Given the description of an element on the screen output the (x, y) to click on. 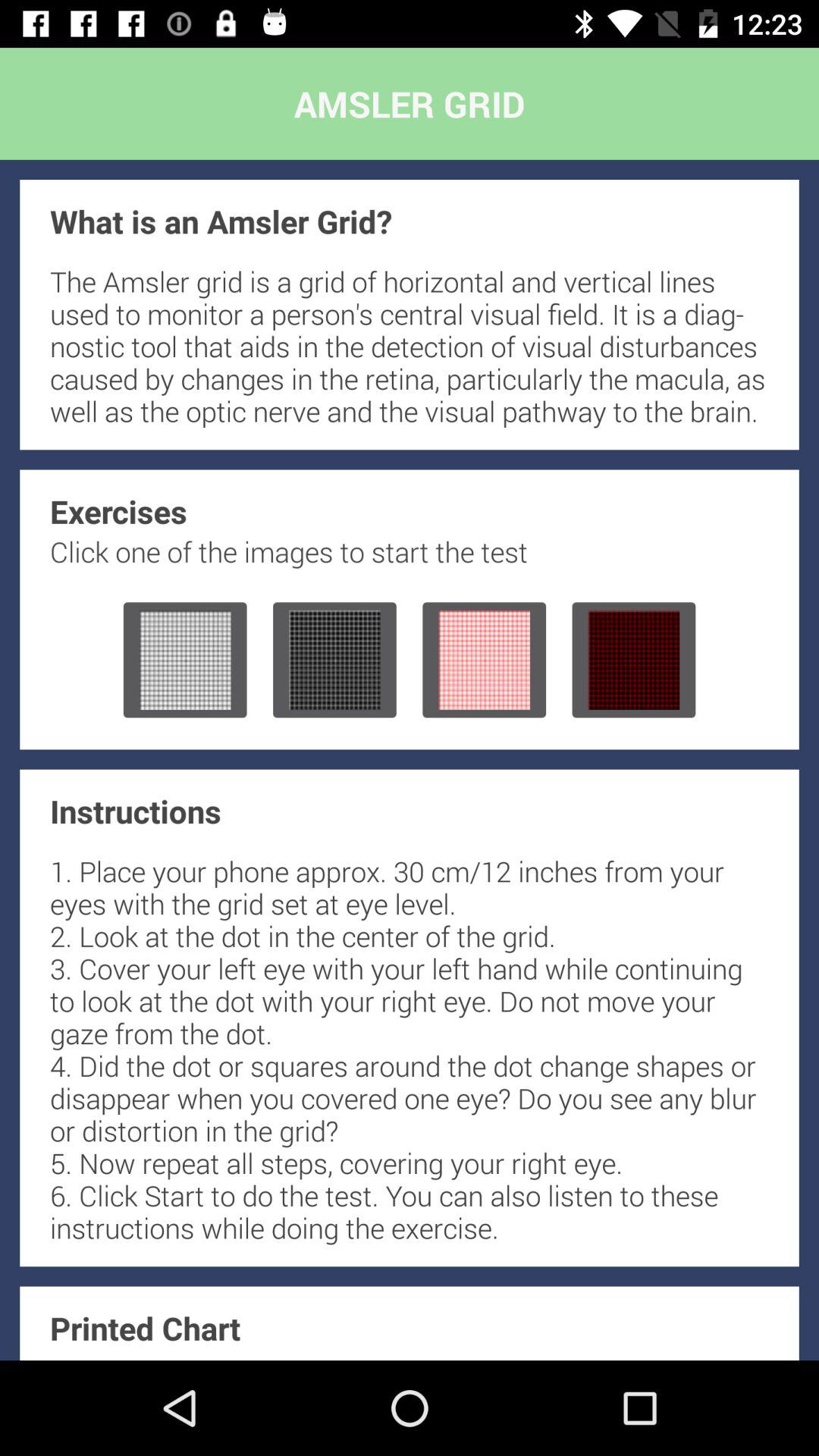
select a type of exercise (334, 659)
